Given the description of an element on the screen output the (x, y) to click on. 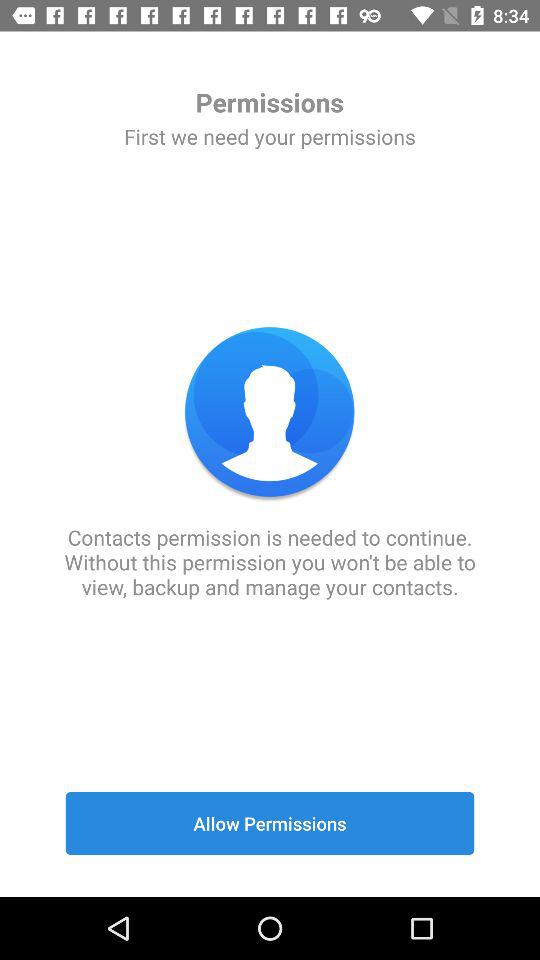
open the allow permissions icon (269, 823)
